Given the description of an element on the screen output the (x, y) to click on. 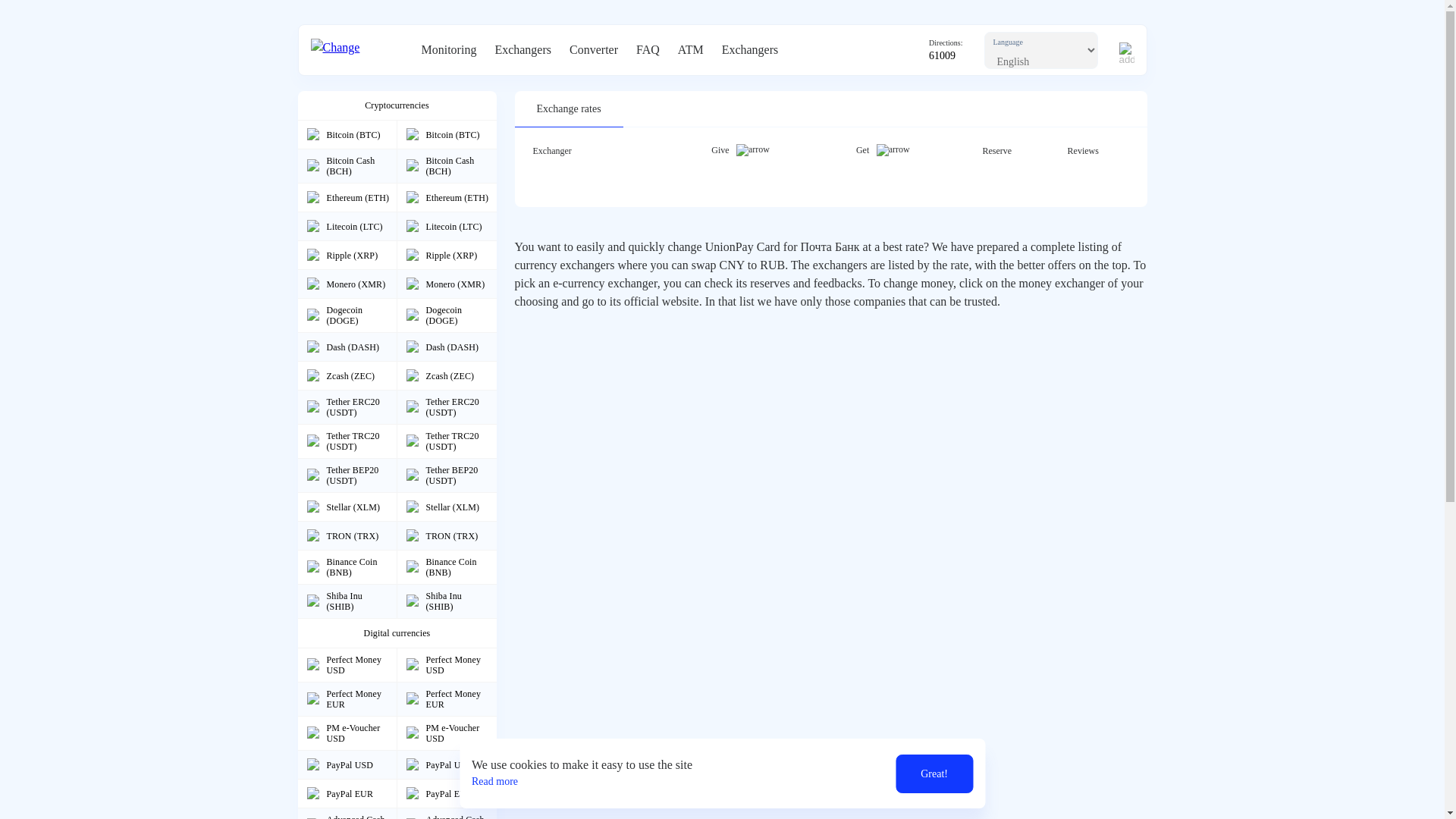
Monitoring (449, 49)
Change (355, 49)
Ethereum (413, 197)
Ripple (312, 255)
Bitcoin (312, 133)
Bitcoin Cash (312, 165)
Zcash (312, 375)
Dogecoin (312, 315)
Converter (593, 49)
Monero (312, 284)
